Given the description of an element on the screen output the (x, y) to click on. 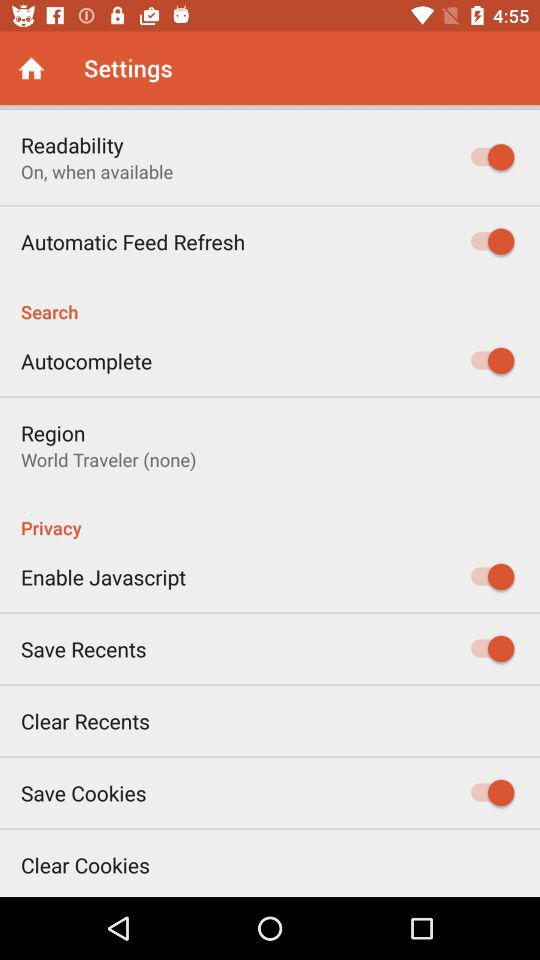
scroll until the clear cookies icon (85, 864)
